Given the description of an element on the screen output the (x, y) to click on. 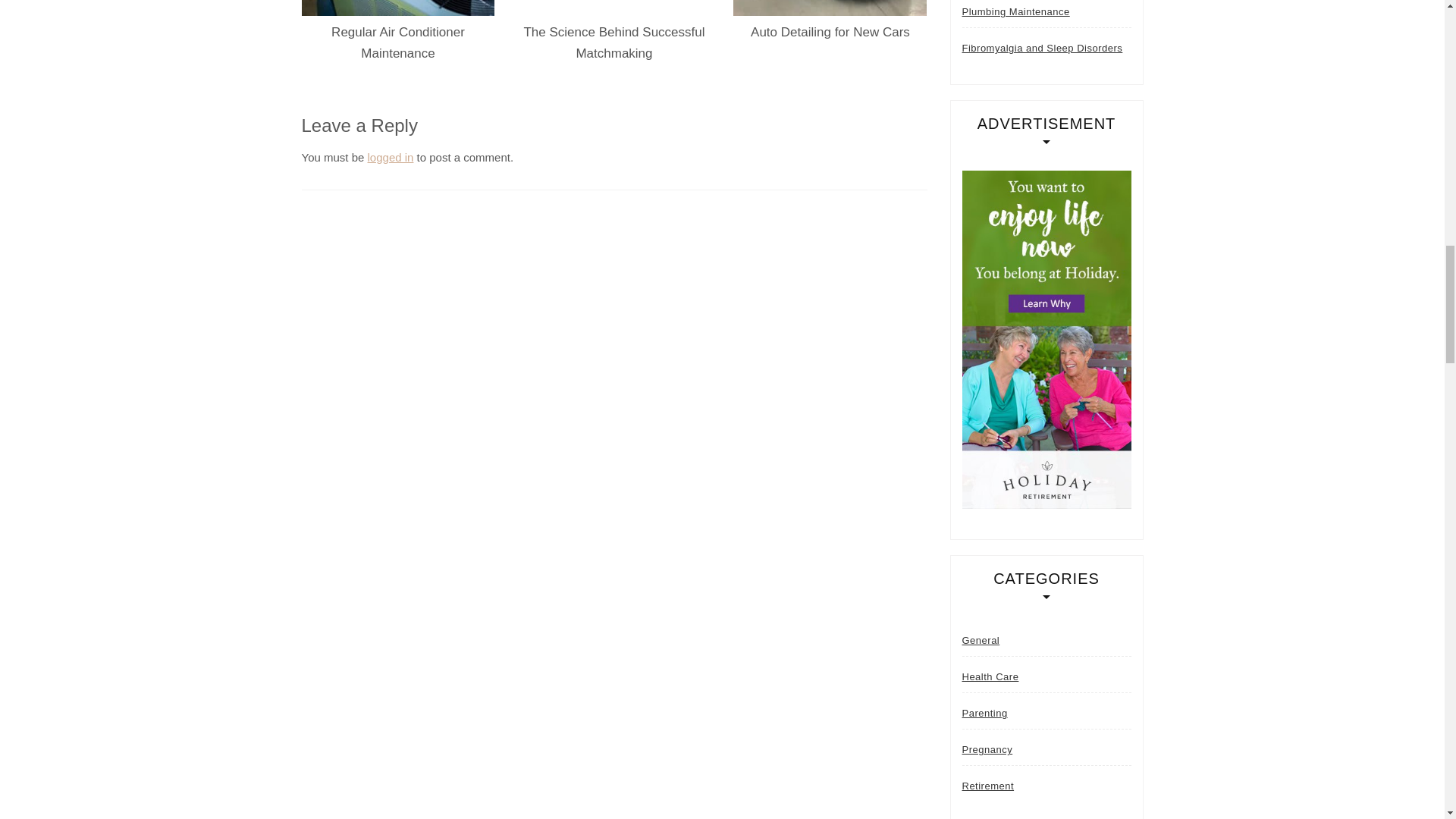
The Science Behind Successful Matchmaking (613, 42)
Regular Air Conditioner Maintenance (397, 42)
logged in (390, 156)
Auto Detailing for New Cars (830, 32)
Common Misconceptions About Plumbing Maintenance (1045, 13)
